Given the description of an element on the screen output the (x, y) to click on. 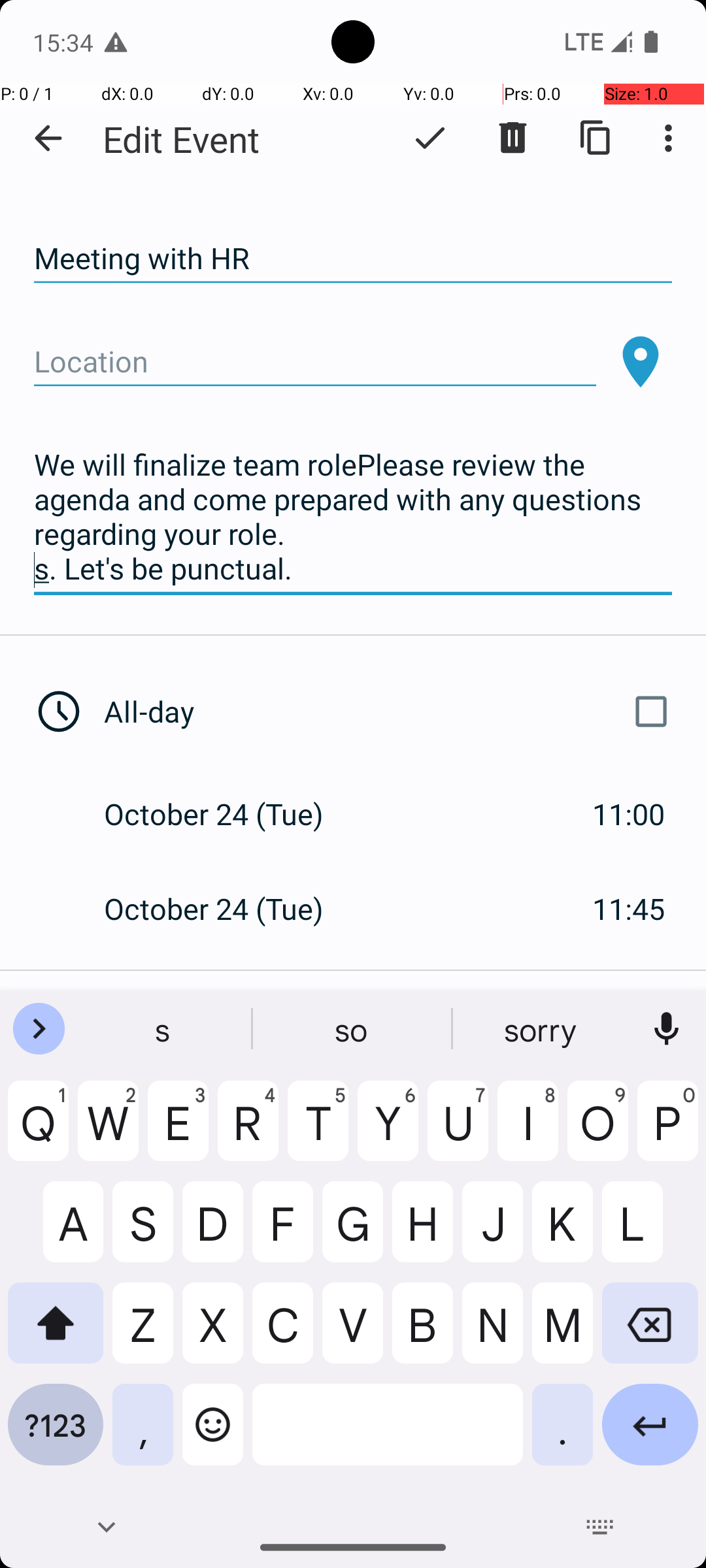
Edit Event Element type: android.widget.TextView (181, 138)
Duplicate event Element type: android.widget.Button (595, 137)
Meeting with HR Element type: android.widget.EditText (352, 258)
We will finalize team rolePlease review the agenda and come prepared with any questions regarding your role.
s. Let's be punctual. Element type: android.widget.EditText (352, 516)
October 24 (Tue) Element type: android.widget.TextView (227, 813)
11:00 Element type: android.widget.TextView (628, 813)
11:45 Element type: android.widget.TextView (628, 908)
so Element type: android.widget.FrameLayout (352, 1028)
sorry Element type: android.widget.FrameLayout (541, 1028)
